Given the description of an element on the screen output the (x, y) to click on. 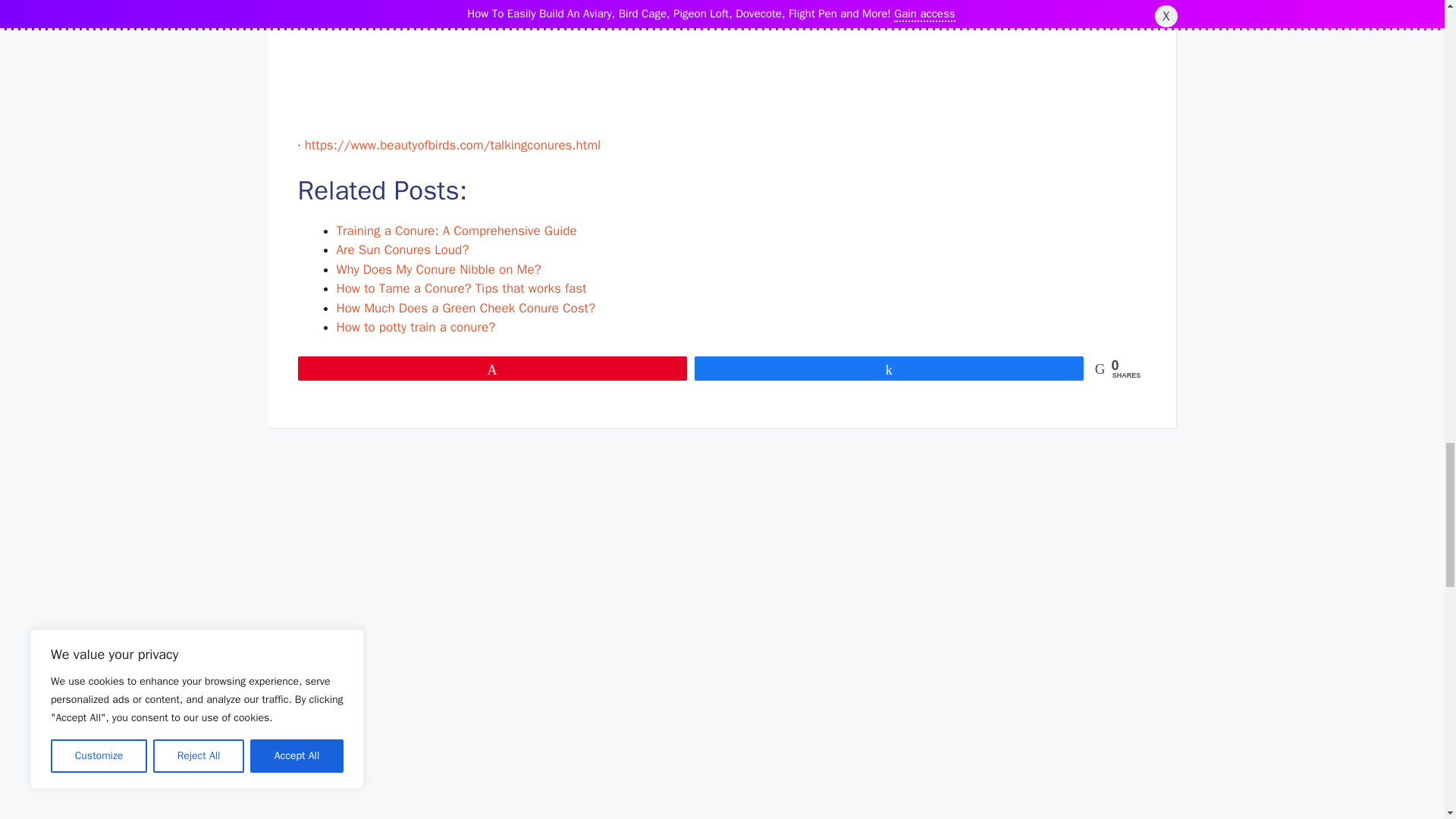
Advertisement (721, 67)
